Given the description of an element on the screen output the (x, y) to click on. 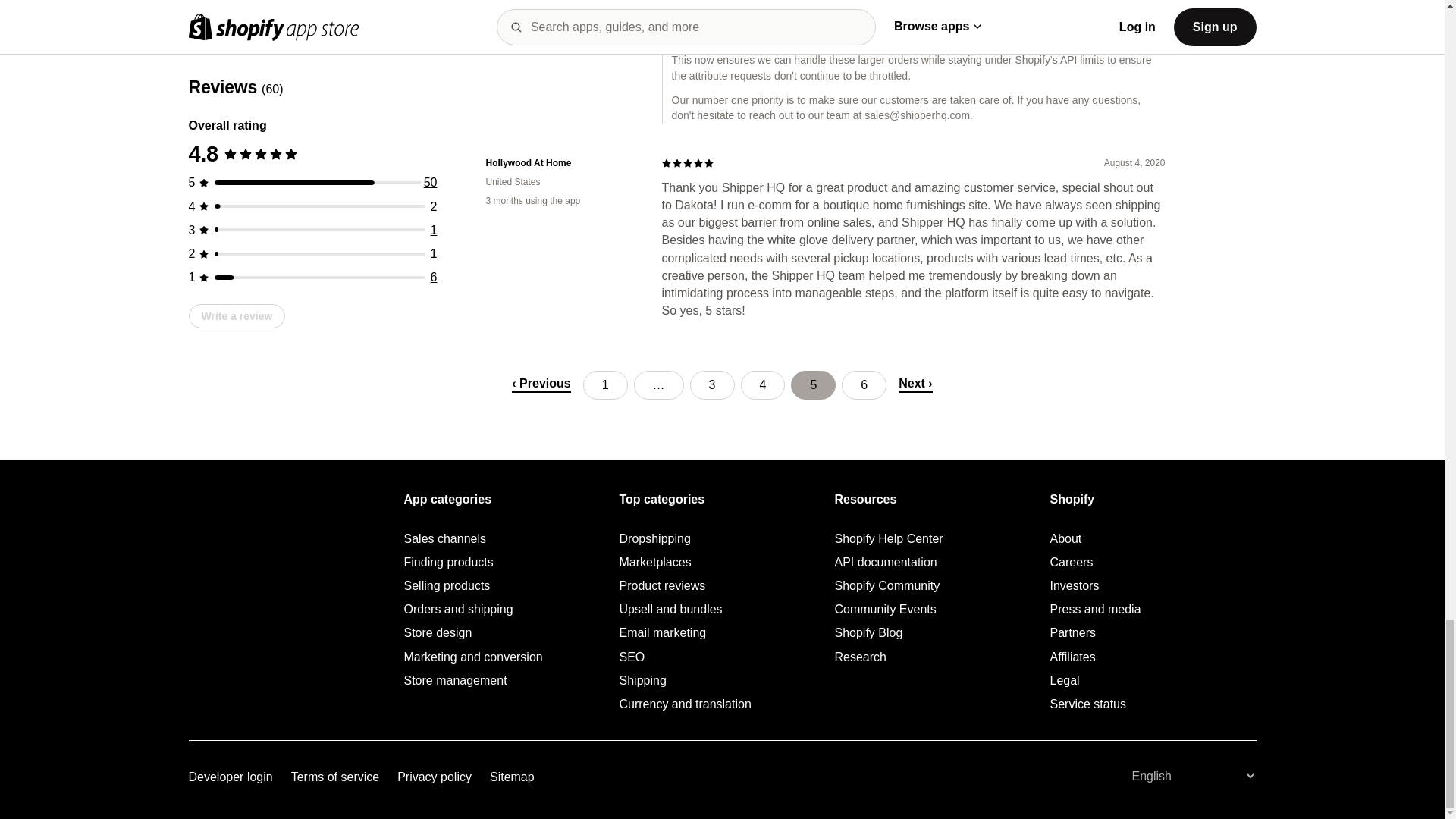
Hollywood At Home (560, 163)
